Given the description of an element on the screen output the (x, y) to click on. 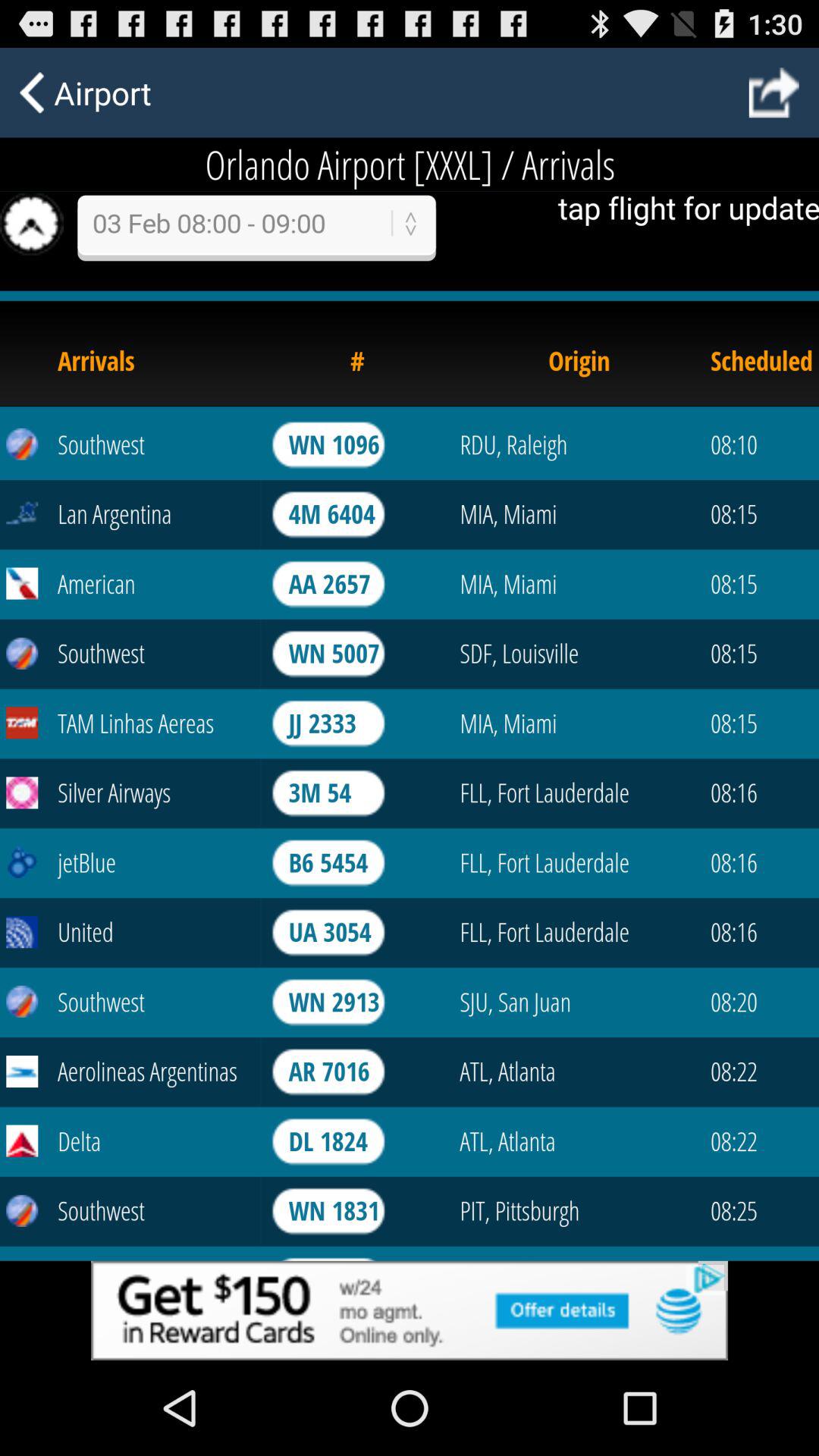
give advertisement information (409, 1310)
